Given the description of an element on the screen output the (x, y) to click on. 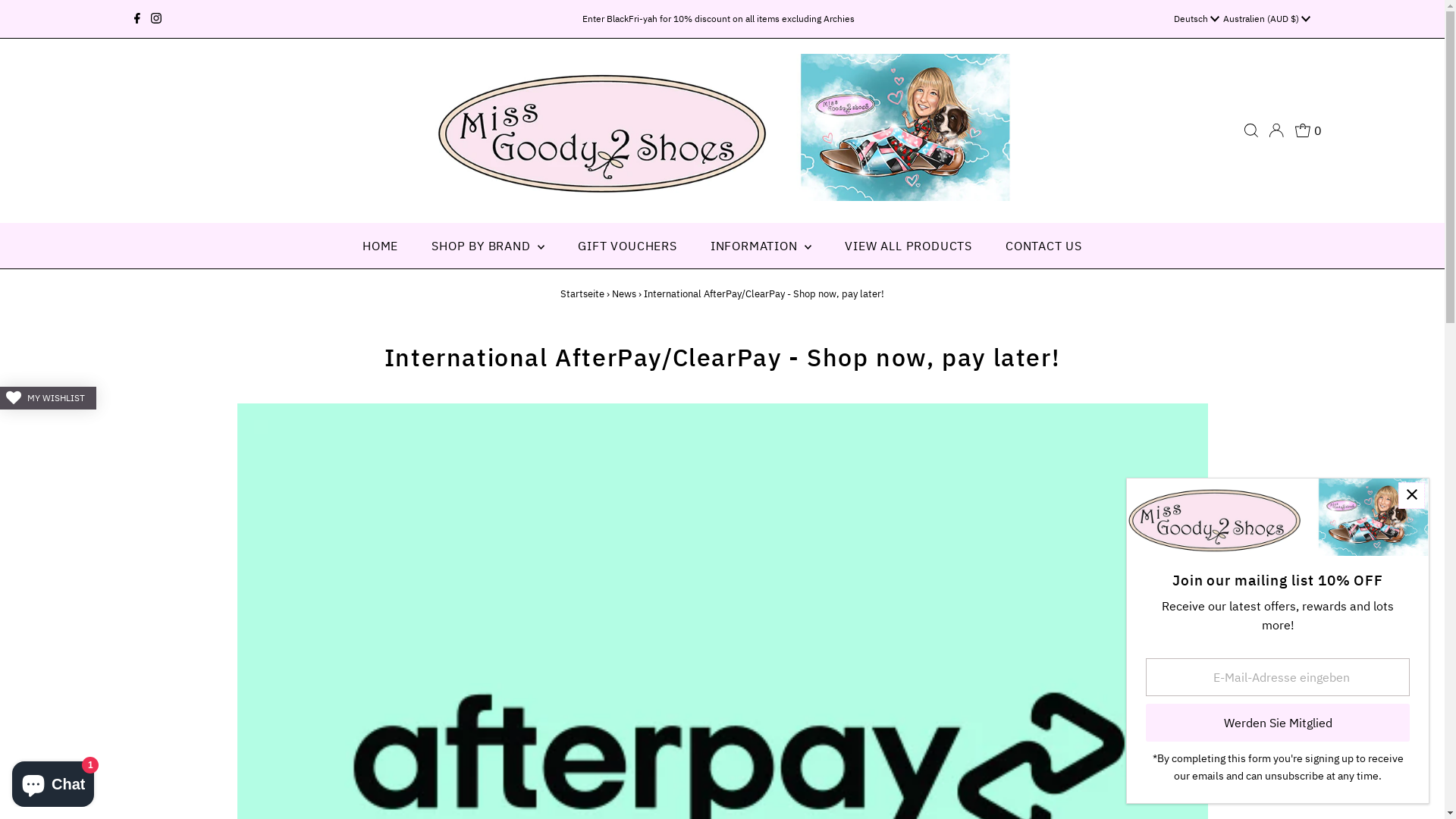
Onlineshop-Chat von Shopify Element type: hover (52, 780)
HOME Element type: text (380, 245)
Werden Sie Mitglied Element type: text (1277, 722)
CONTACT US Element type: text (1043, 245)
News Element type: text (623, 293)
MY WISHLIST Element type: text (48, 397)
Startseite Element type: text (582, 293)
0 Element type: text (1308, 130)
GIFT VOUCHERS Element type: text (626, 245)
VIEW ALL PRODUCTS Element type: text (908, 245)
